Given the description of an element on the screen output the (x, y) to click on. 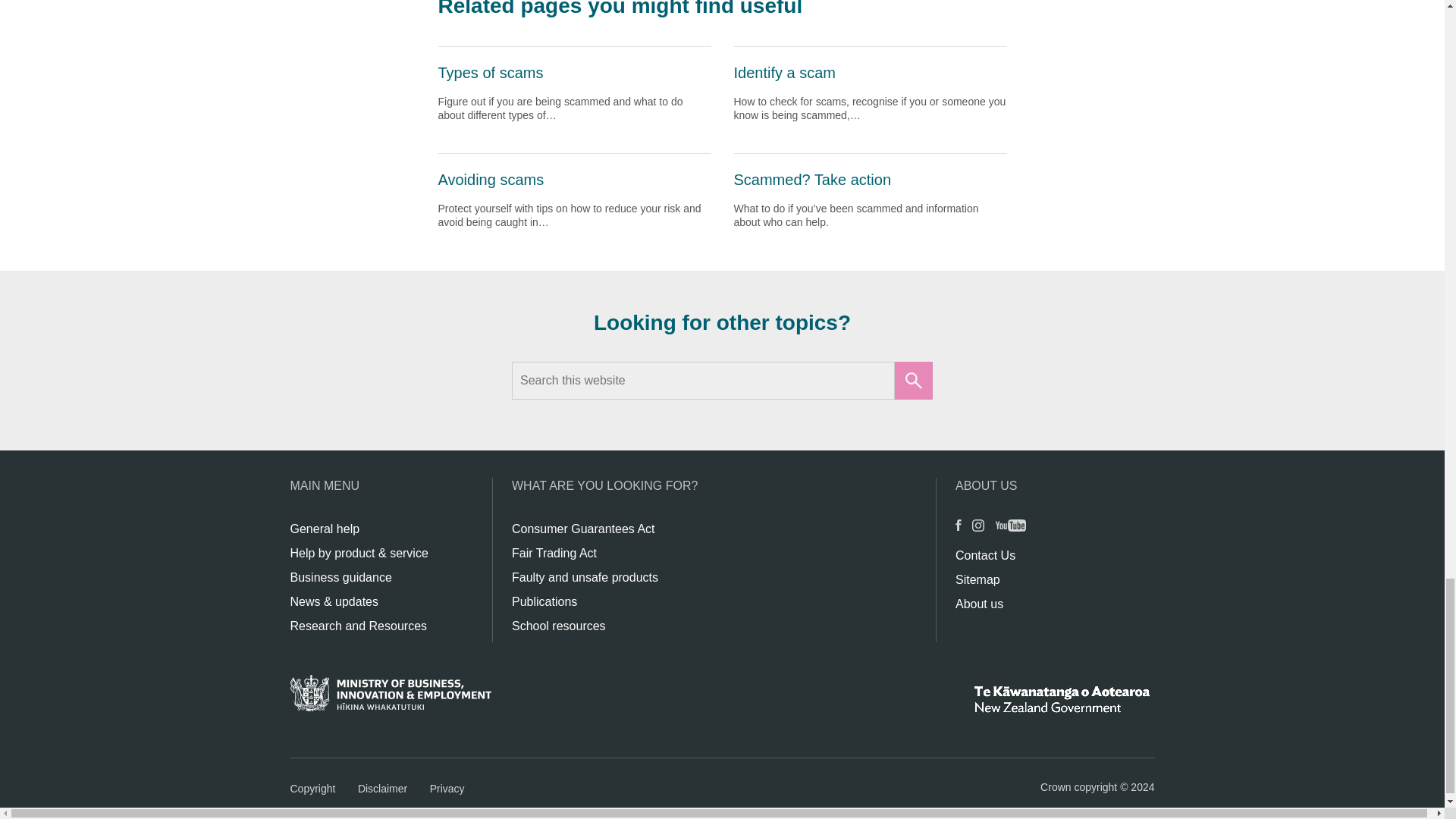
Ministry of Business, Innovation and Employment (389, 697)
Consumer Protection on Instagram (983, 530)
Consumer Protection on YouTube (1014, 530)
Consumer Protection on Facebook (963, 530)
